Given the description of an element on the screen output the (x, y) to click on. 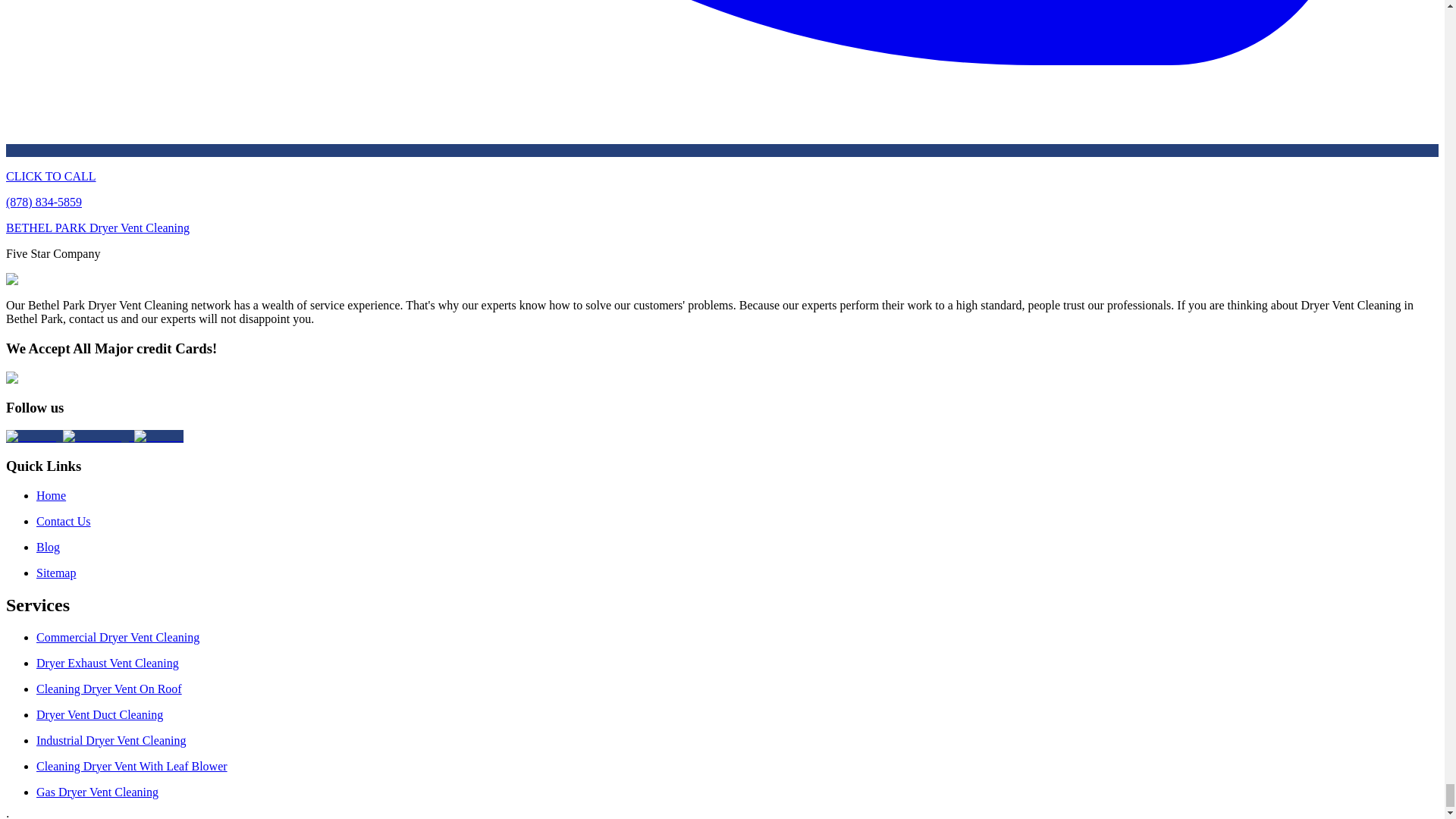
Facebook logo (158, 436)
Instagram (33, 436)
Bank Card Image (43, 377)
Twitter (97, 436)
Star Set Image (36, 279)
Instagram icon (33, 436)
twitter logo (97, 436)
Facebook (158, 436)
